Given the description of an element on the screen output the (x, y) to click on. 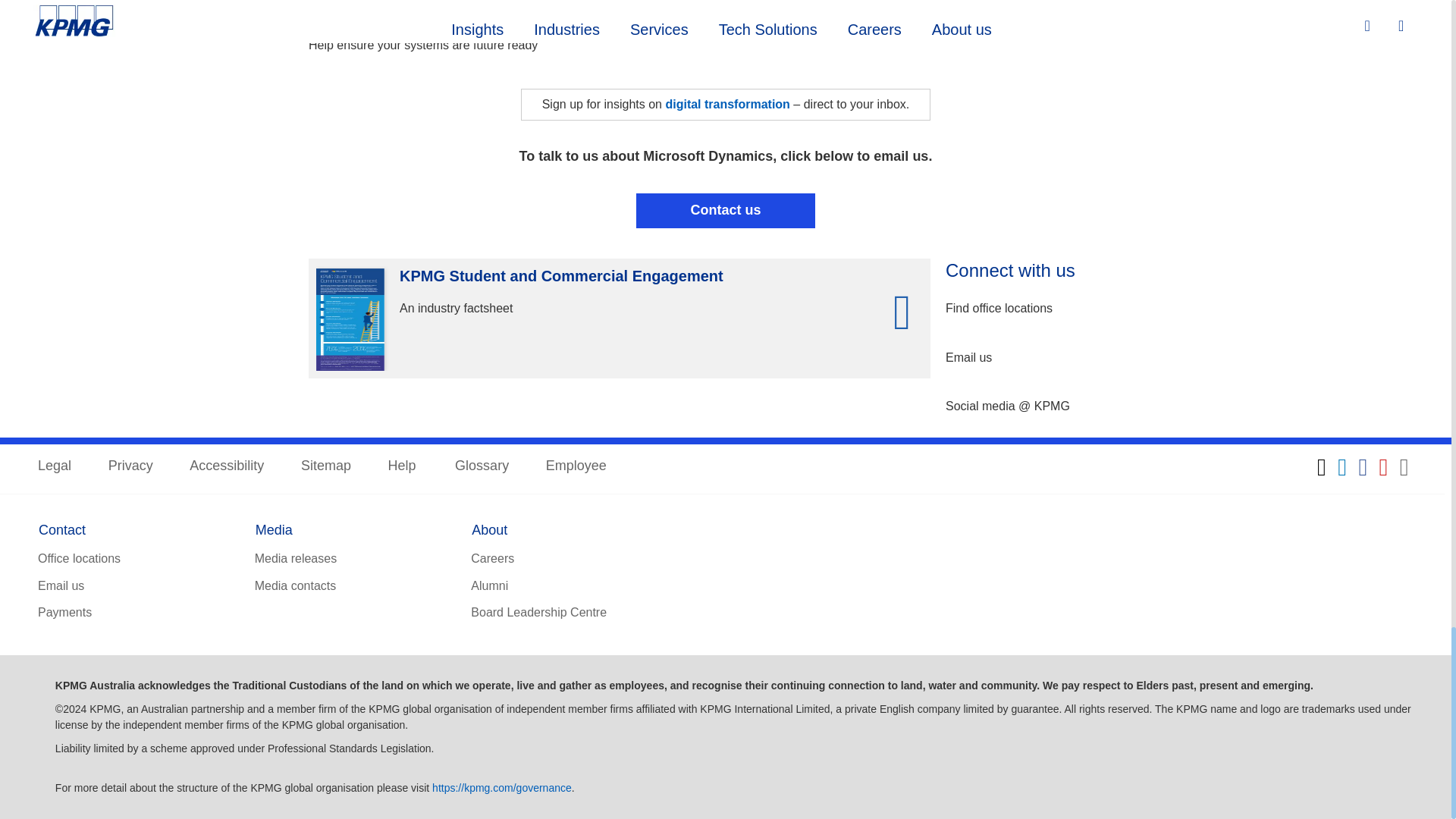
Find office locations (998, 308)
Sitemap (325, 466)
Email us (967, 358)
Glossary (481, 466)
Help (403, 466)
digital transformation (727, 103)
Contact us (725, 210)
Contact us (725, 210)
Privacy (129, 466)
Legal (54, 466)
Accessibility (226, 466)
